Given the description of an element on the screen output the (x, y) to click on. 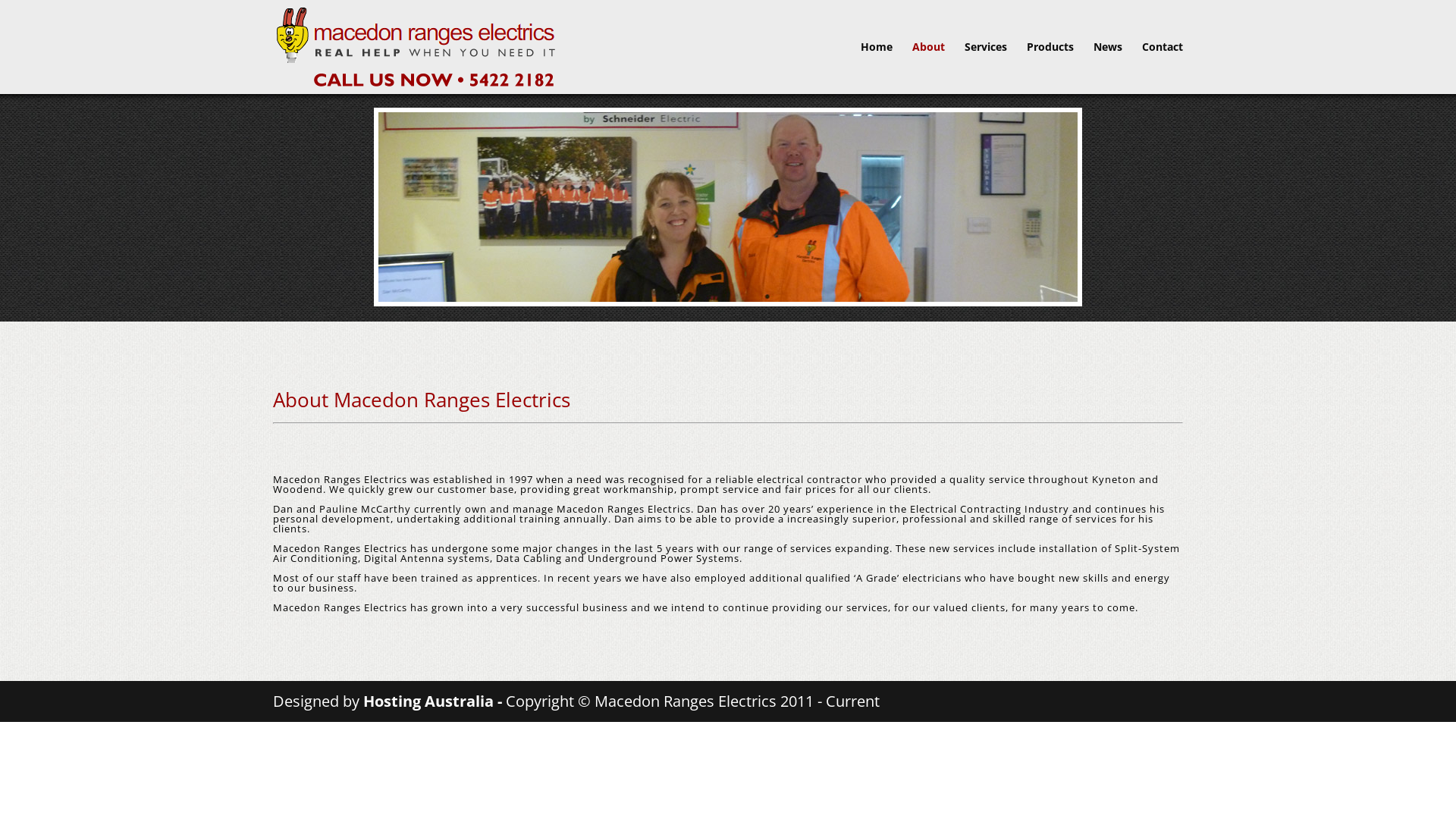
Contact Element type: text (1162, 67)
About Element type: text (928, 67)
Products Element type: text (1049, 67)
Home Element type: text (876, 67)
Hosting Australia - Element type: text (434, 700)
News Element type: text (1107, 67)
danpaulineshot Element type: hover (727, 206)
Services Element type: text (985, 67)
